Given the description of an element on the screen output the (x, y) to click on. 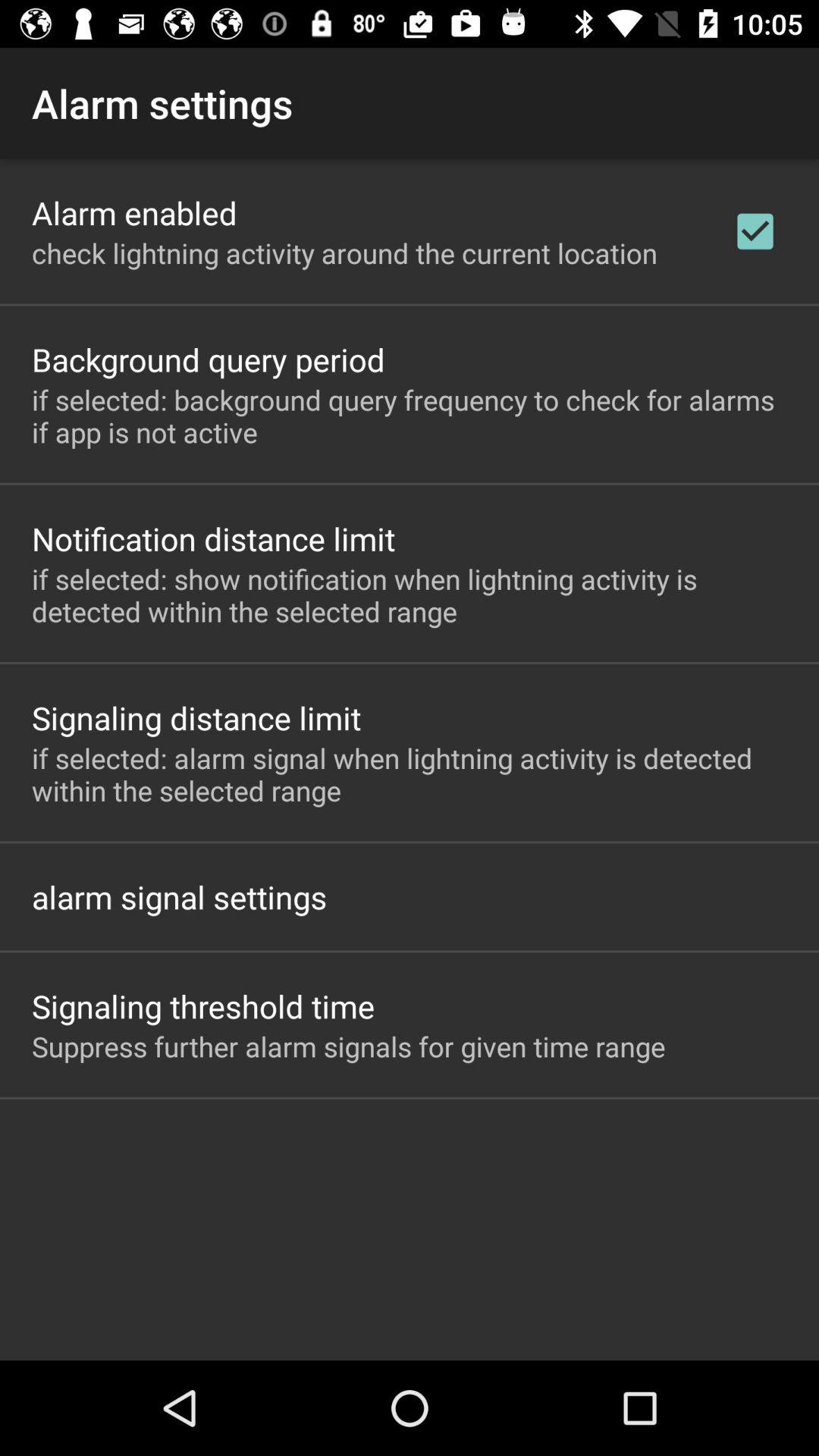
turn off the icon below signaling threshold time item (348, 1046)
